Given the description of an element on the screen output the (x, y) to click on. 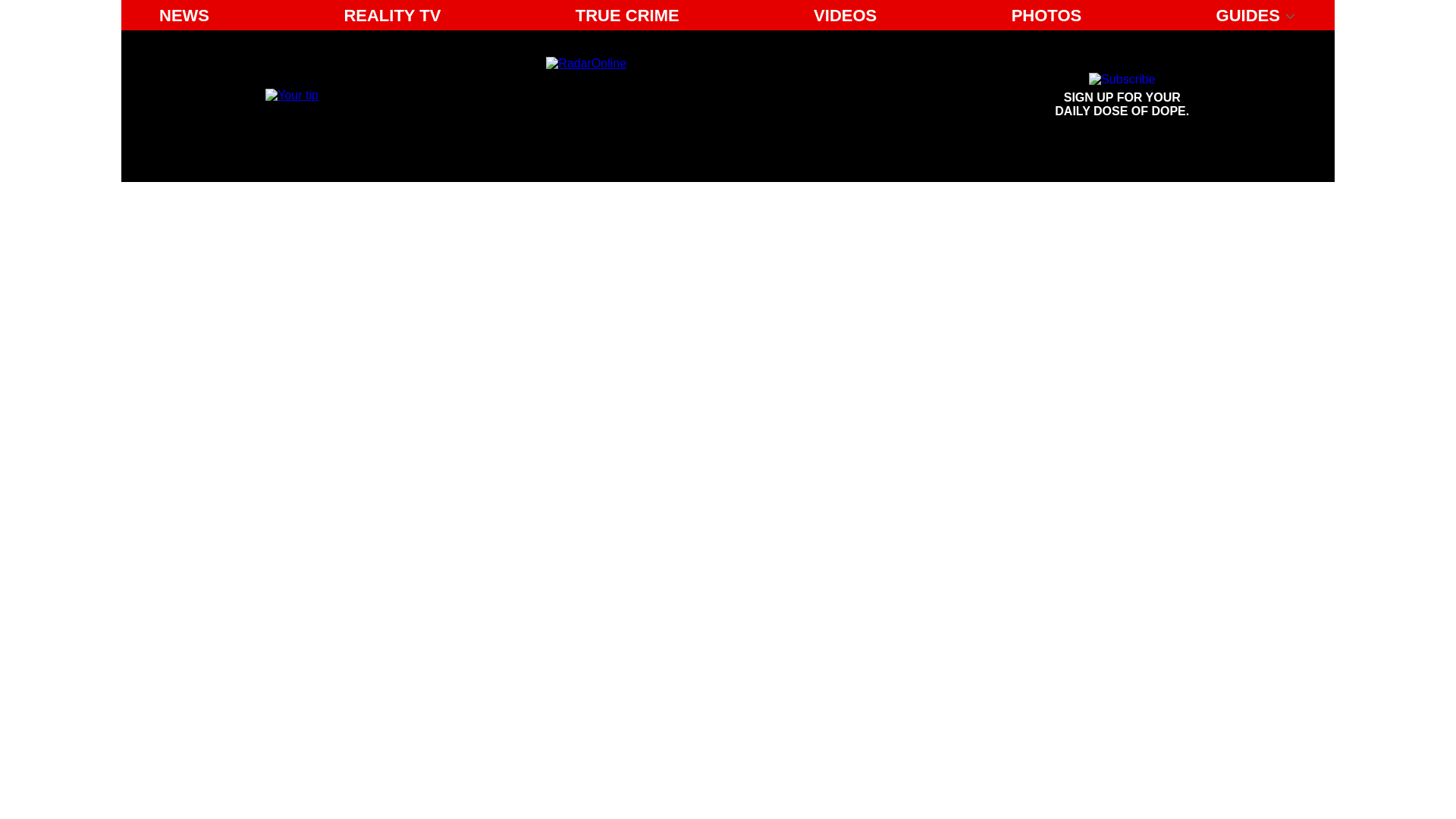
Sign up for your daily dose of dope. (1122, 94)
REALITY TV (392, 15)
NEWS (183, 15)
VIDEOS (844, 15)
Email us your tip (291, 94)
TRUE CRIME (627, 15)
PHOTOS (1046, 15)
Radar Online (1122, 94)
